Given the description of an element on the screen output the (x, y) to click on. 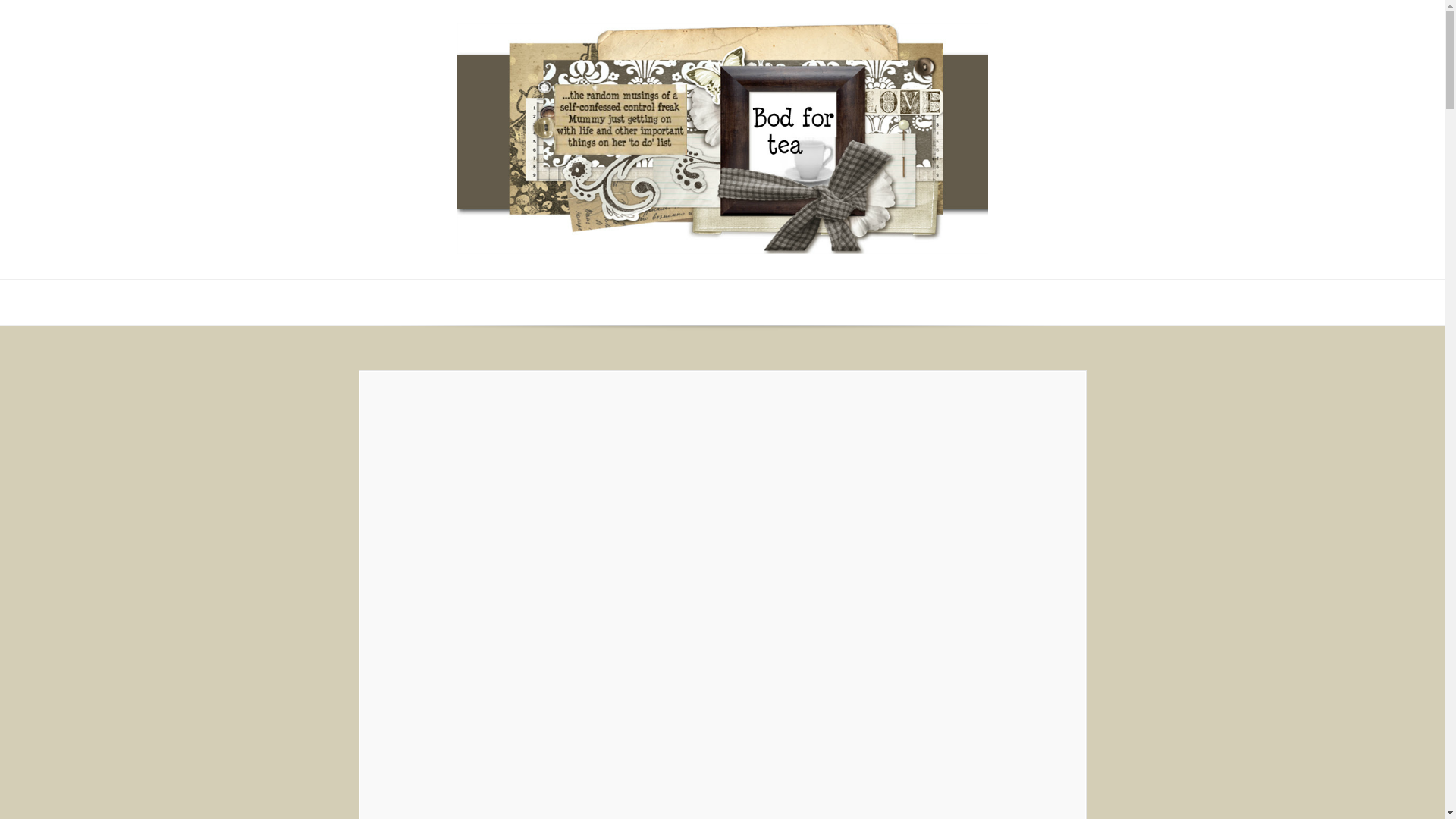
15 comments (628, 445)
Tara Binns - giving little girls big ideas (1020, 814)
Home (389, 384)
Life (573, 445)
WIN a VIP lunch at Soupe du Jour ! (924, 814)
